Given the description of an element on the screen output the (x, y) to click on. 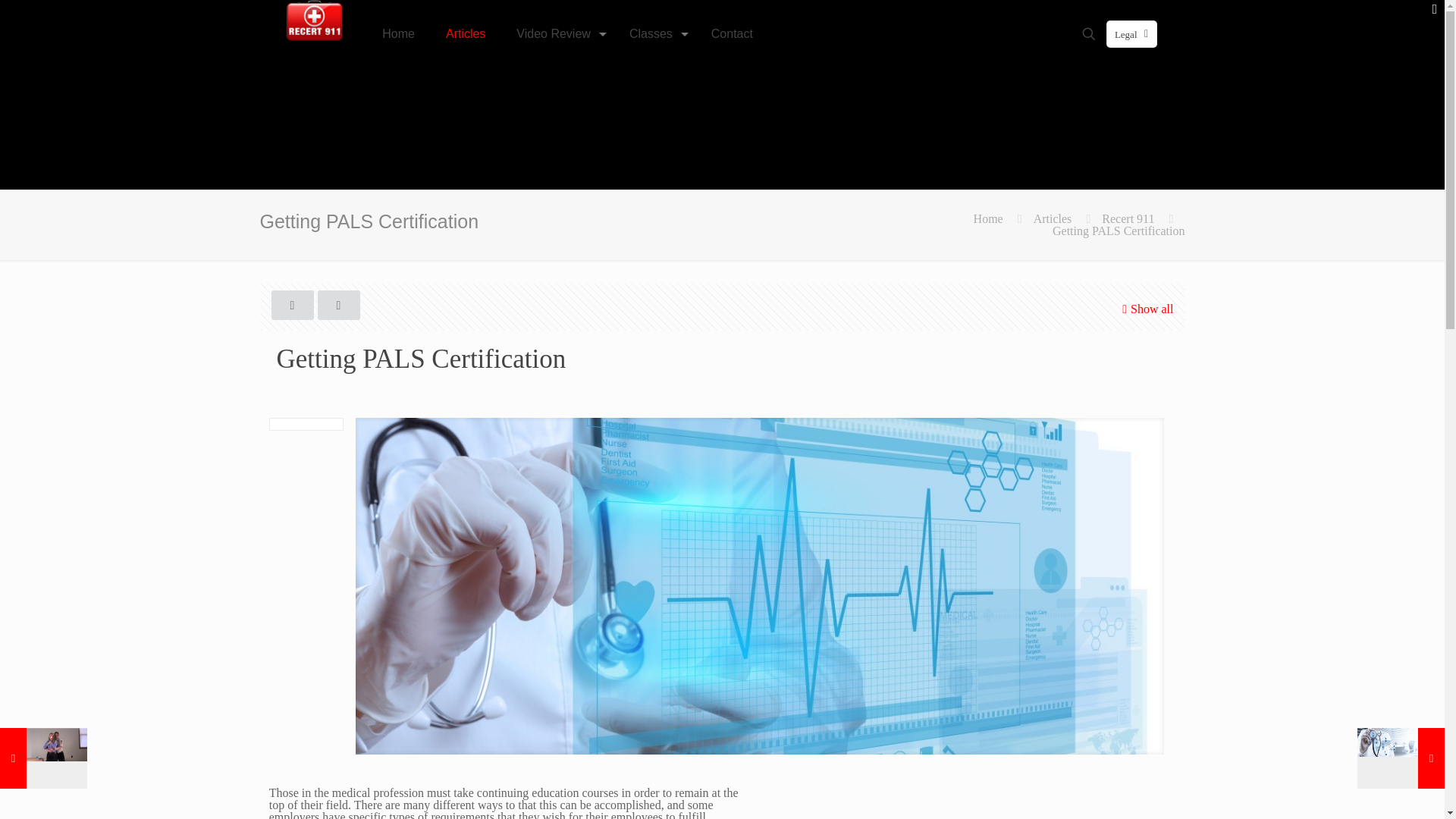
Legal (1131, 33)
Home (398, 33)
Articles (465, 33)
Home (988, 218)
Video Review (557, 33)
Articles (1052, 218)
Recert911 - CPR, ACLS, PALS, and BLS Texas (313, 22)
Recert 911 (1128, 218)
Contact (731, 33)
Classes (654, 33)
